Given the description of an element on the screen output the (x, y) to click on. 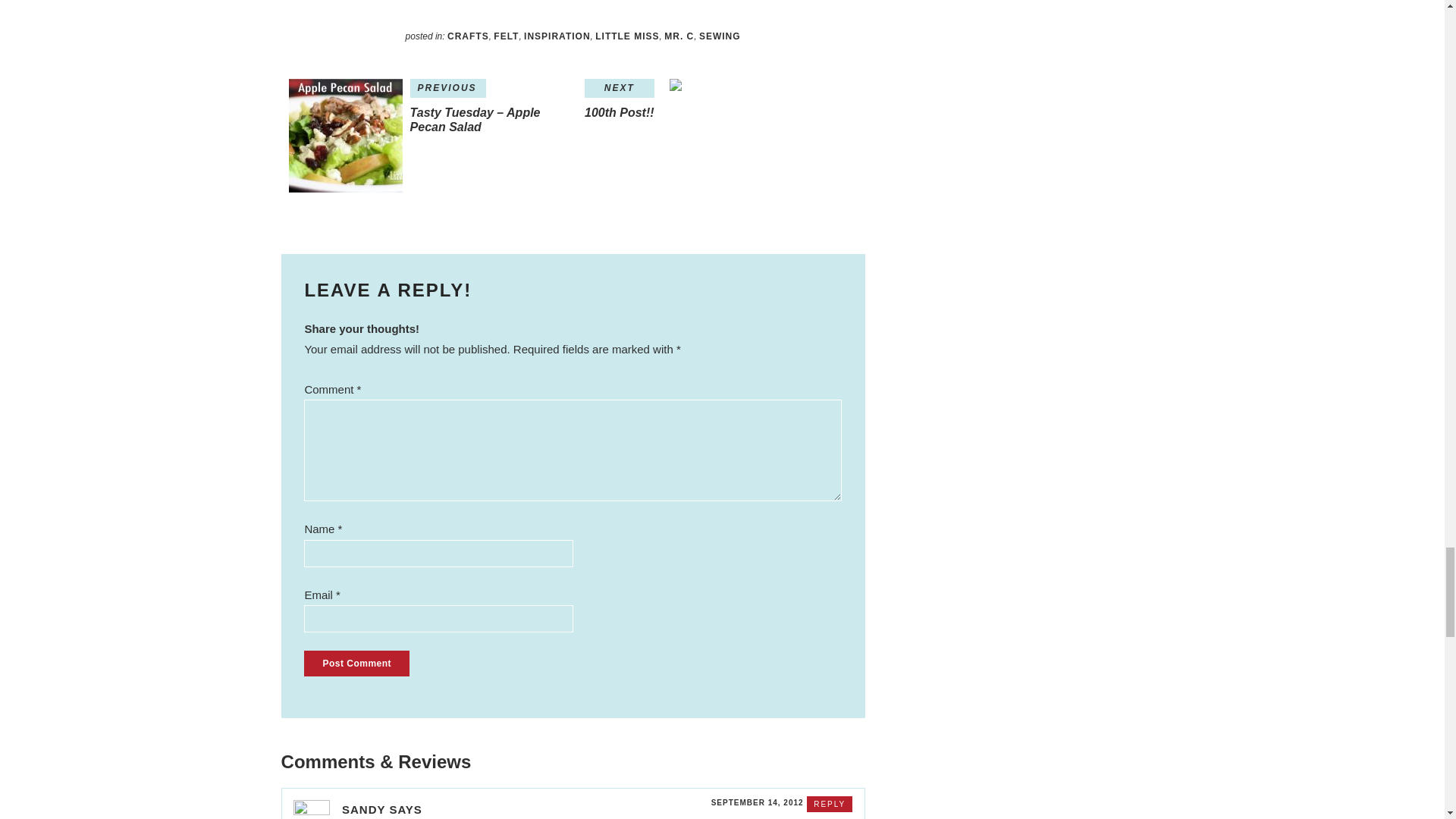
Post Comment (356, 663)
